Given the description of an element on the screen output the (x, y) to click on. 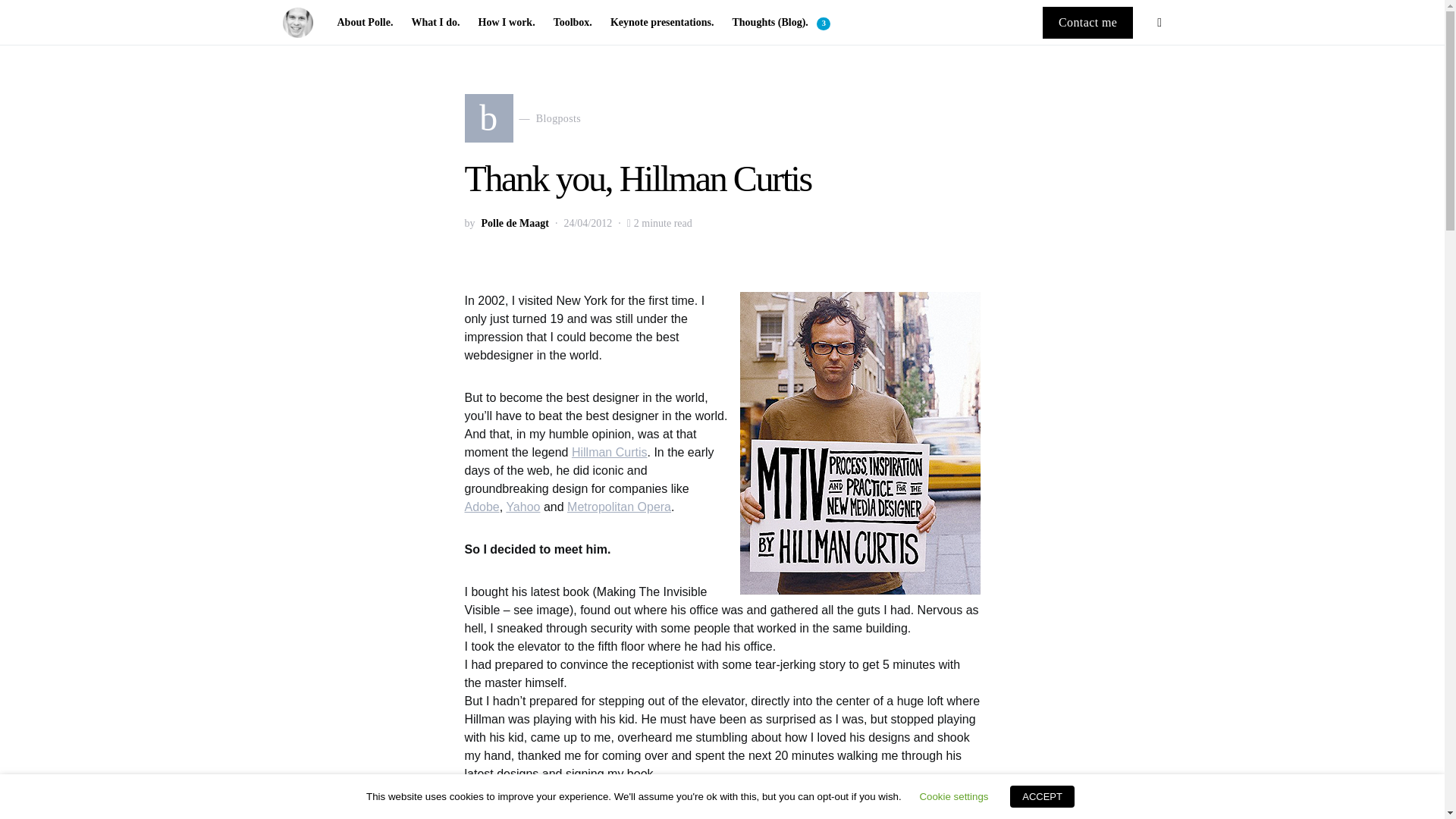
How I work. (506, 22)
View all posts by Polle de Maagt (514, 222)
Toolbox. (572, 22)
Keynote presentations. (662, 22)
Hillman Curtis (609, 451)
Contact me (1087, 21)
Yahoo (522, 118)
Metropolitan Opera (522, 506)
Adobe (619, 506)
What I do. (481, 506)
About Polle. (434, 22)
Polle de Maagt (368, 22)
